Given the description of an element on the screen output the (x, y) to click on. 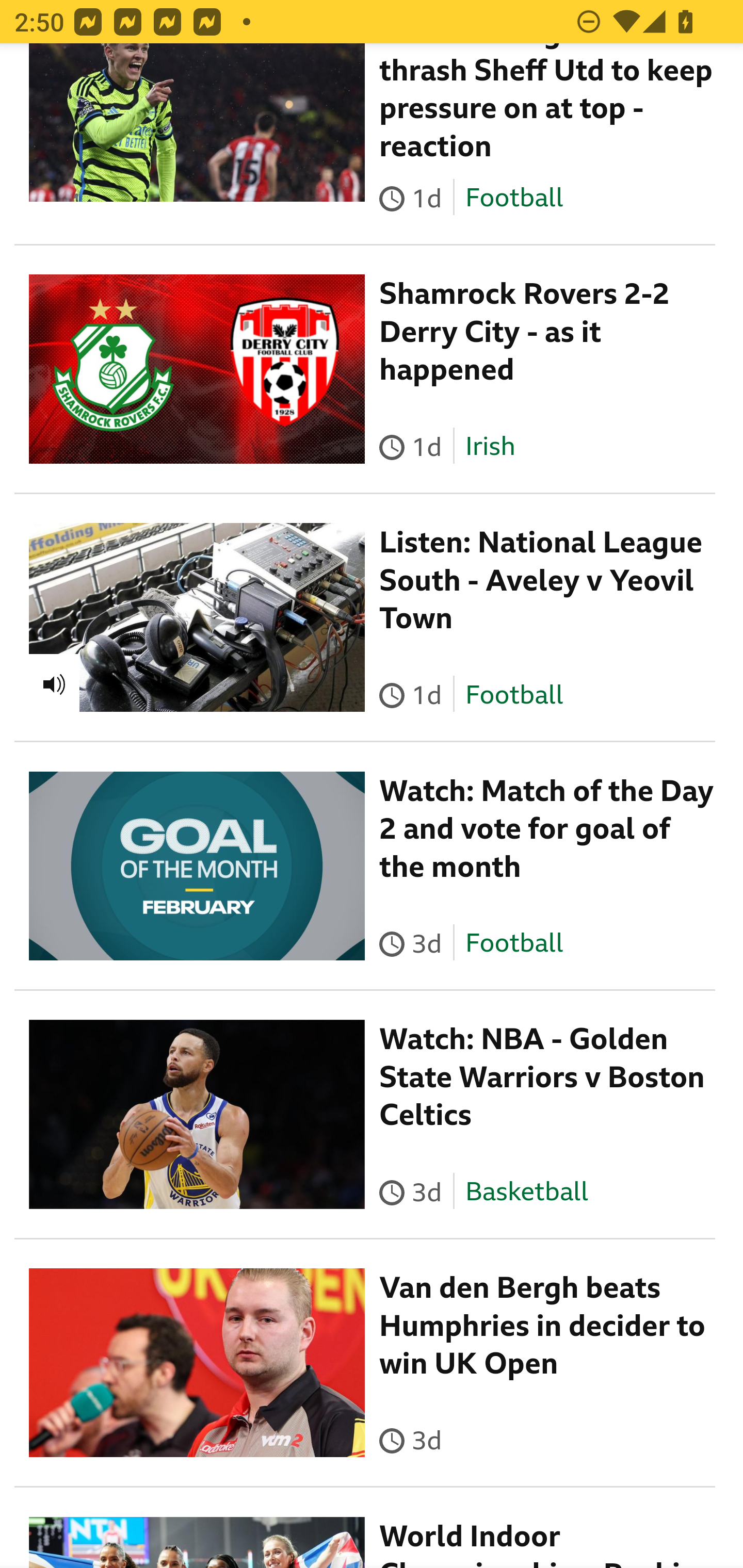
Football (513, 198)
Shamrock Rovers 2-2 Derry City - as it happened (523, 333)
Irish (489, 447)
Football (513, 695)
Football (513, 943)
Basketball (525, 1192)
